Given the description of an element on the screen output the (x, y) to click on. 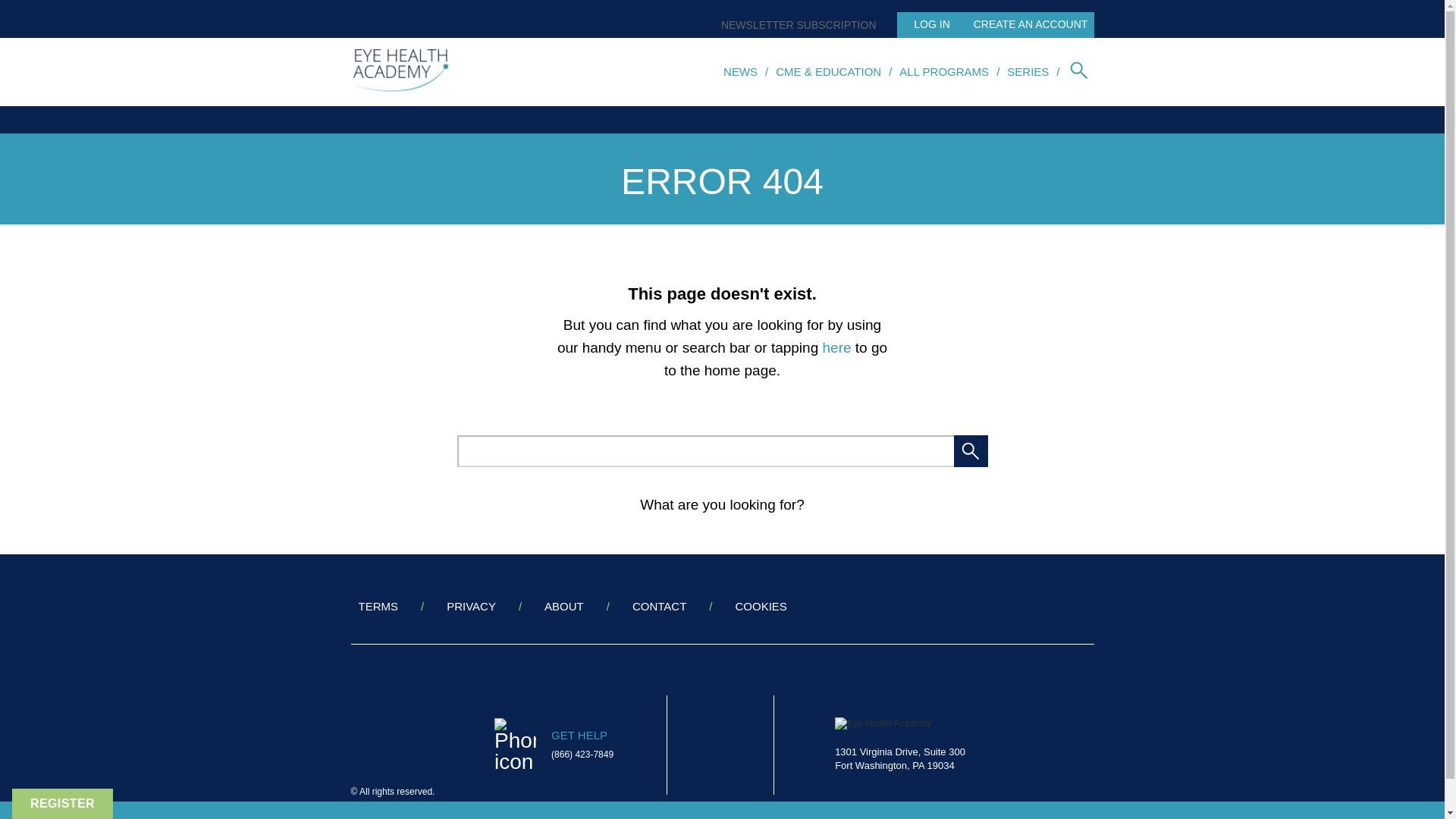
NEWSLETTER SUBSCRIPTION (794, 24)
Eye Health Academy (399, 71)
LOG IN (927, 24)
NEWS (740, 71)
Phone icon (515, 745)
Eye Health Academy (882, 723)
here (836, 347)
CREATE AN ACCOUNT (1026, 24)
Eye Health Academy (899, 745)
ALL PROGRAMS (943, 71)
SERIES (1027, 71)
